Given the description of an element on the screen output the (x, y) to click on. 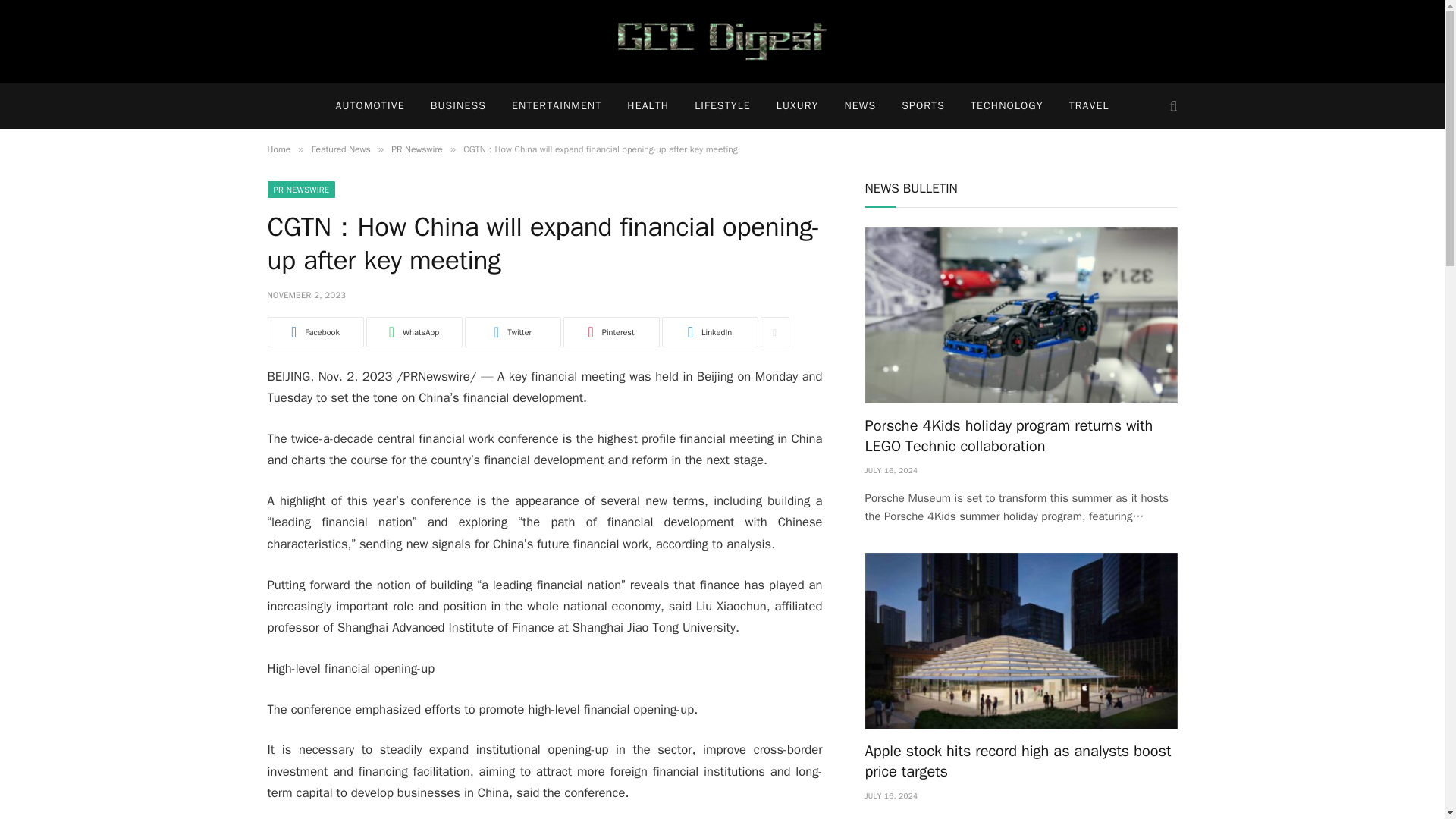
Share on Facebook (314, 331)
Featured News (341, 149)
TECHNOLOGY (1007, 105)
BUSINESS (458, 105)
TRAVEL (1089, 105)
HEALTH (647, 105)
Share on Pinterest (610, 331)
Share on LinkedIn (709, 331)
LIFESTYLE (721, 105)
AUTOMOTIVE (368, 105)
ENTERTAINMENT (556, 105)
SPORTS (923, 105)
Show More Social Sharing (774, 331)
Share on WhatsApp (413, 331)
LinkedIn (709, 331)
